Given the description of an element on the screen output the (x, y) to click on. 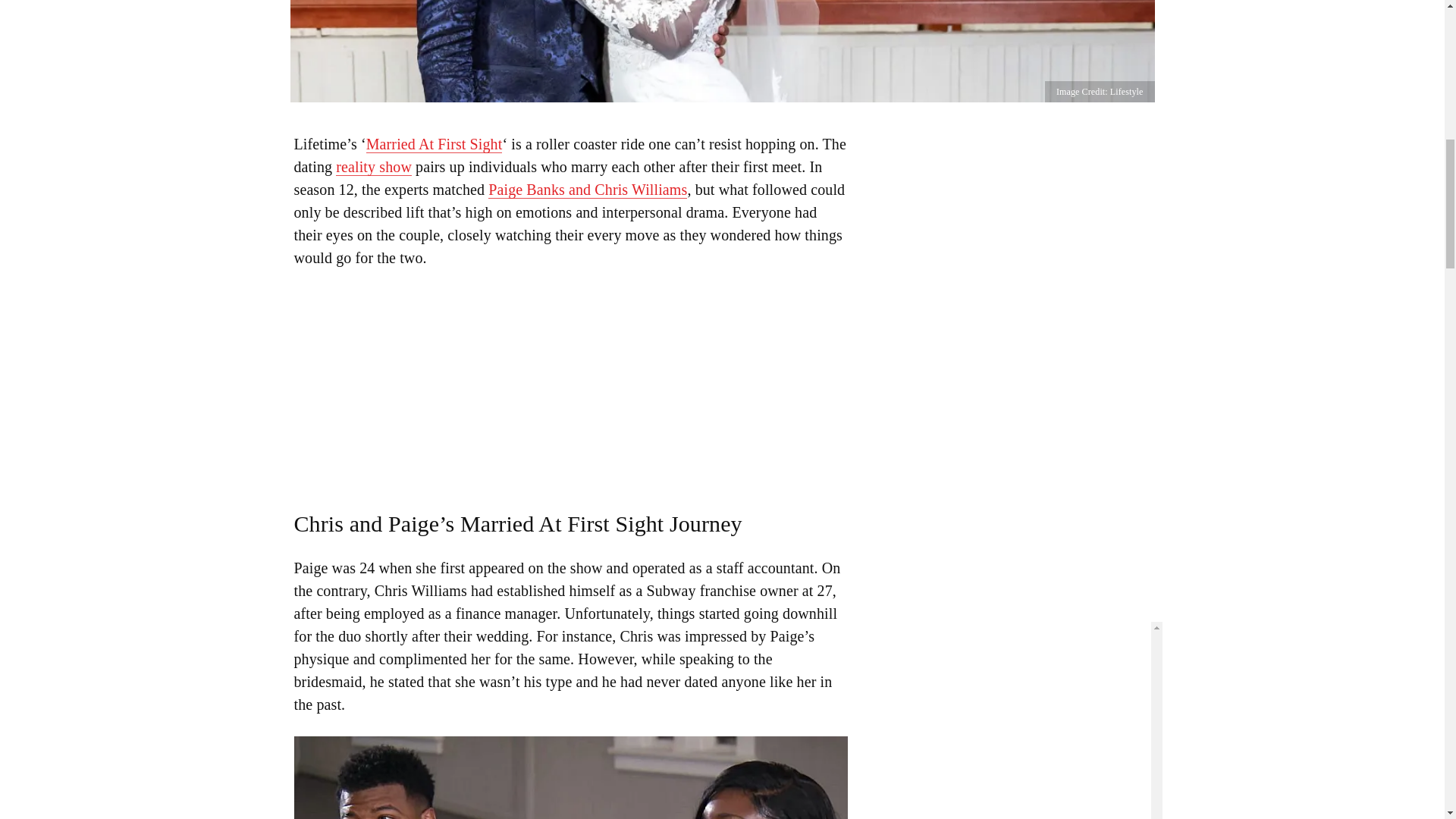
Paige Banks and Chris Williams (587, 189)
reality show (374, 167)
Married At First Sight (434, 144)
